Given the description of an element on the screen output the (x, y) to click on. 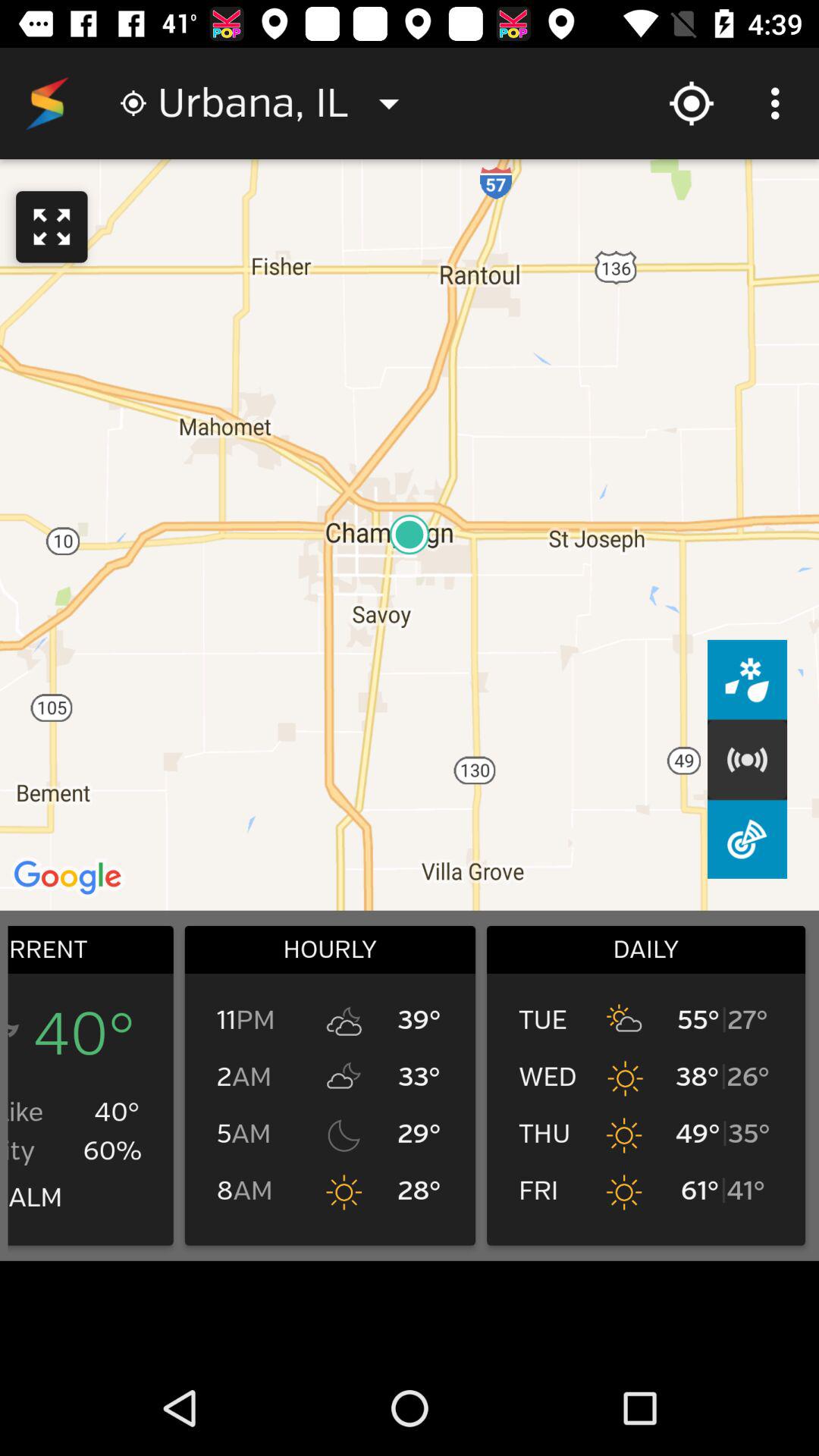
list right to hourly box (646, 1085)
